Given the description of an element on the screen output the (x, y) to click on. 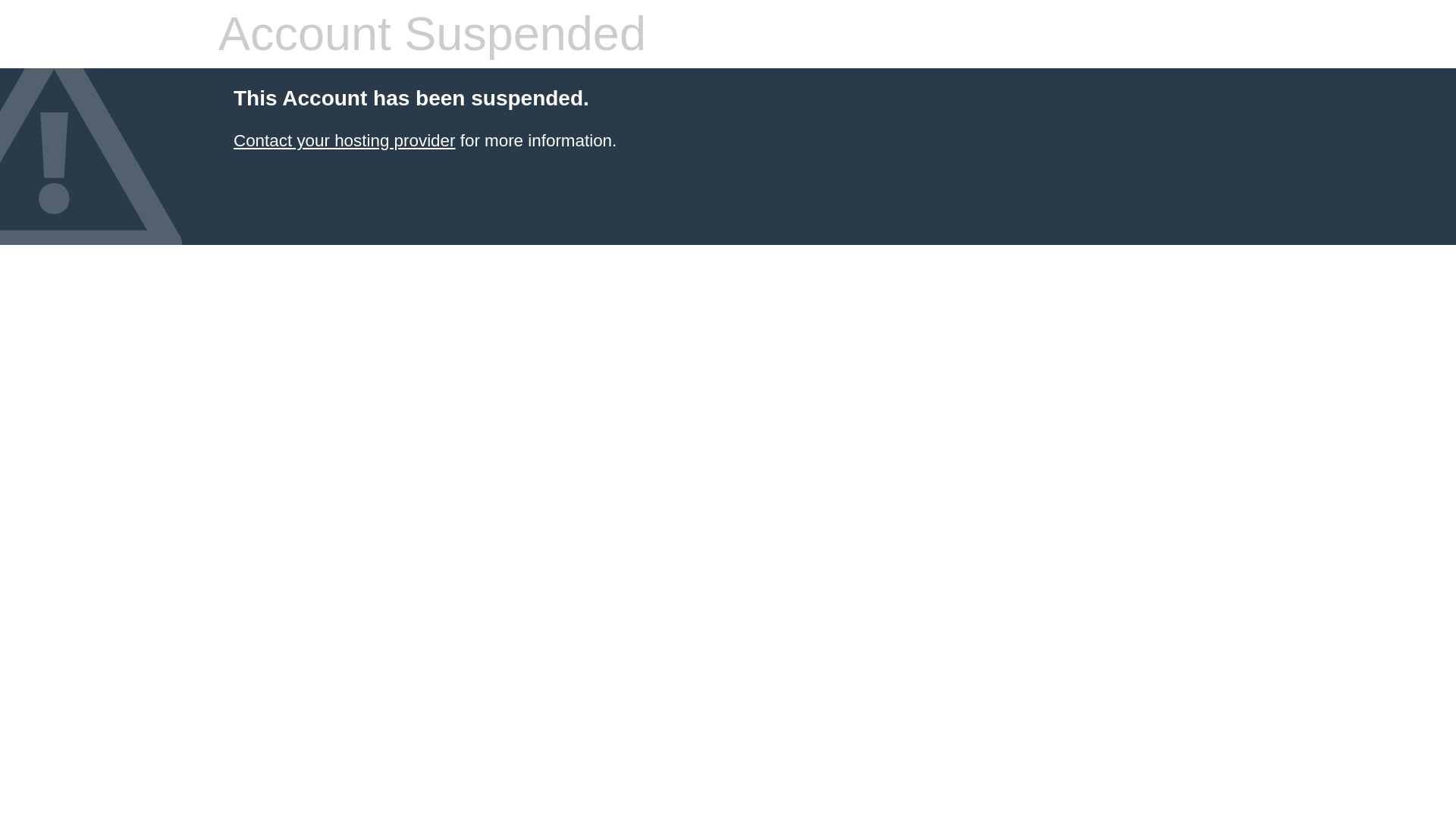
Contact your hosting provider (343, 140)
